Given the description of an element on the screen output the (x, y) to click on. 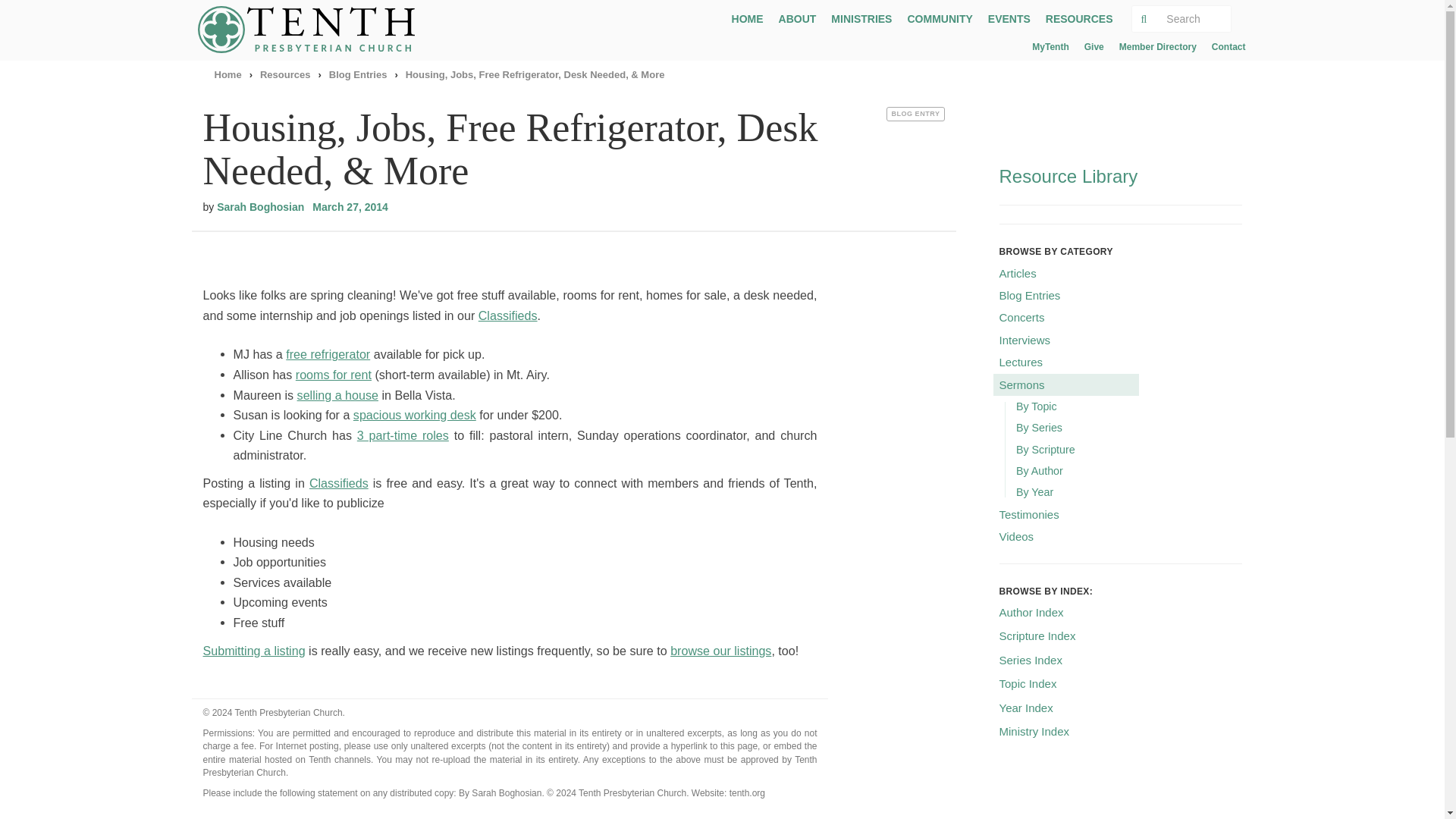
ABOUT (797, 18)
Tenth Presbyterian Church (310, 29)
Home (227, 74)
HOME (747, 18)
Resource Category (914, 114)
MINISTRIES (861, 18)
